Given the description of an element on the screen output the (x, y) to click on. 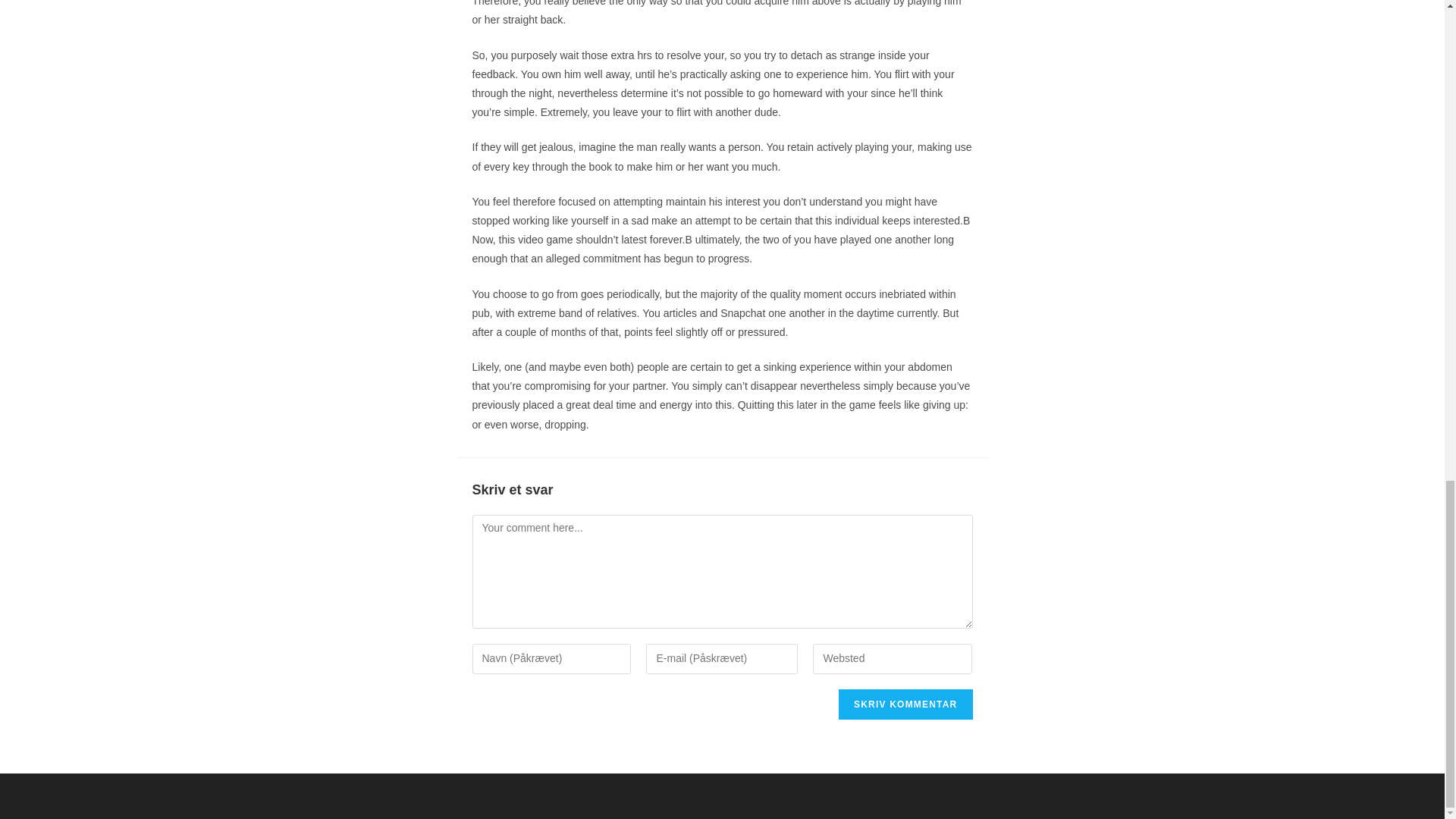
Skriv kommentar (905, 704)
Skriv kommentar (905, 704)
